Given the description of an element on the screen output the (x, y) to click on. 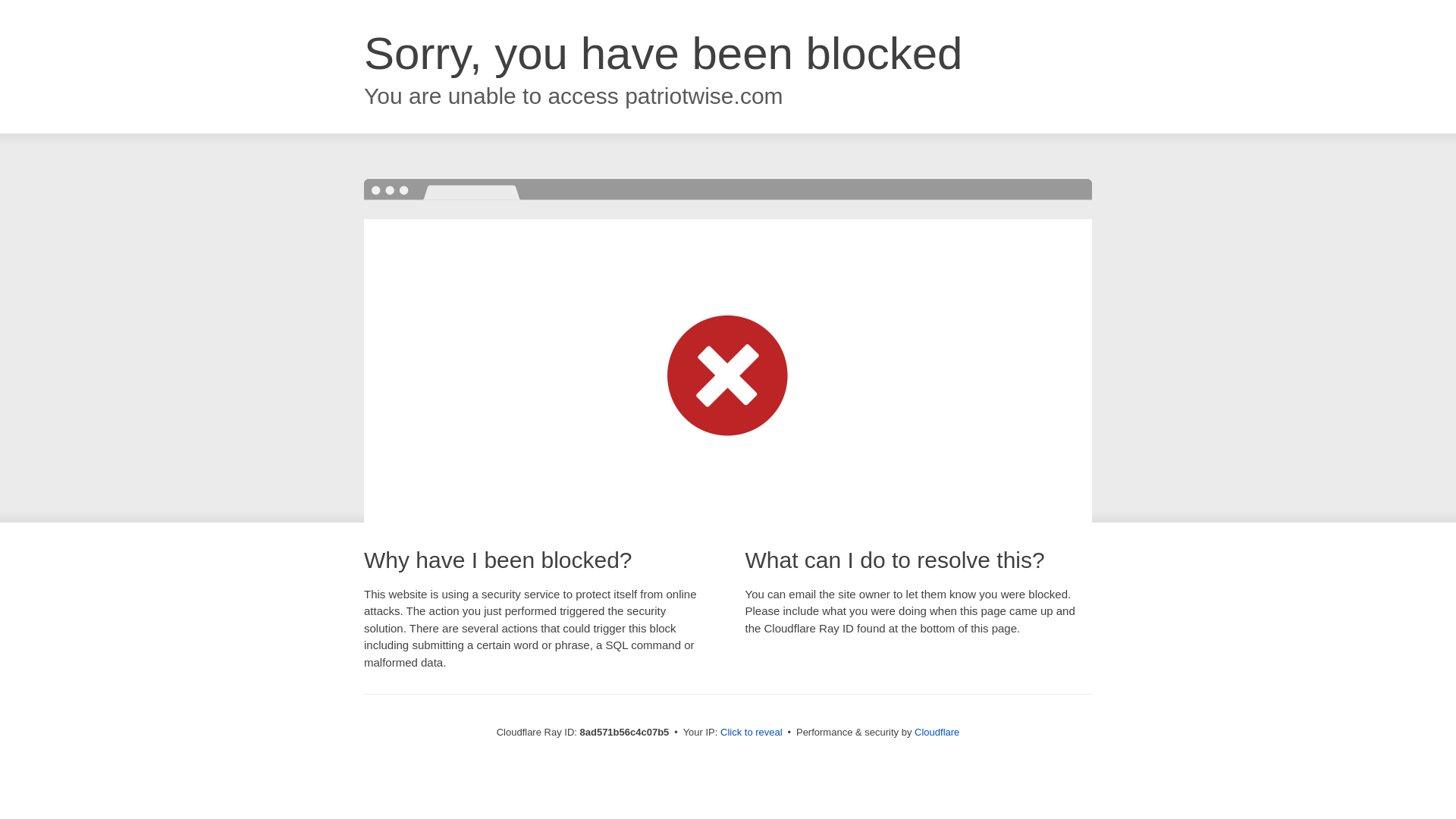
Click to reveal (751, 732)
Cloudflare (936, 731)
